Given the description of an element on the screen output the (x, y) to click on. 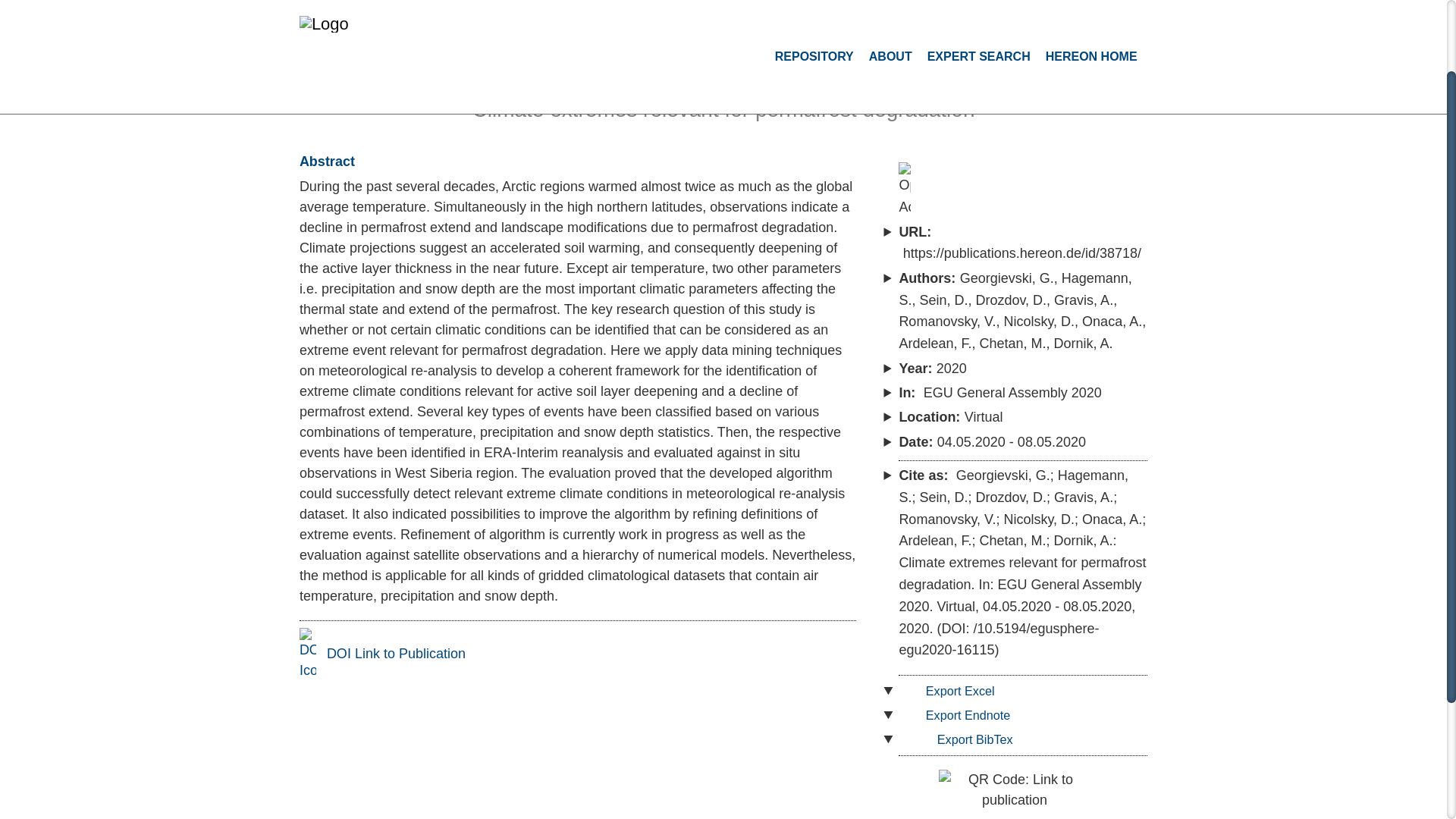
Export Endnote (958, 714)
Export BibTex (960, 739)
Export to Endnote (958, 714)
Export Excel (950, 690)
DOI Link to Publication (382, 654)
Export to BibTex (960, 739)
Export to Excel (950, 690)
